Given the description of an element on the screen output the (x, y) to click on. 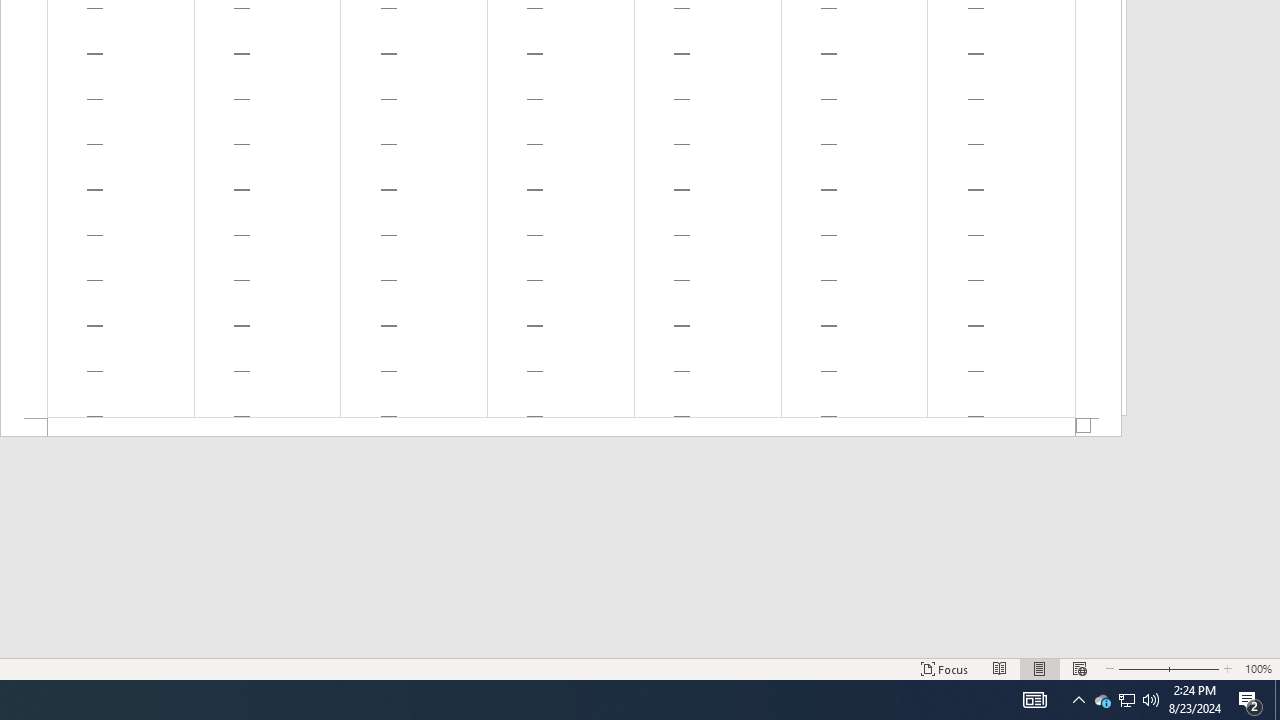
Action Center, 2 new notifications (1250, 699)
Read Mode (1000, 668)
Zoom In (1102, 699)
Focus  (1195, 668)
Zoom Out (944, 668)
Footer -Section 1- (1142, 668)
AutomationID: 4105 (561, 427)
Print Layout (1034, 699)
Show desktop (1039, 668)
Notification Chevron (1277, 699)
User Promoted Notification Area (1078, 699)
